Given the description of an element on the screen output the (x, y) to click on. 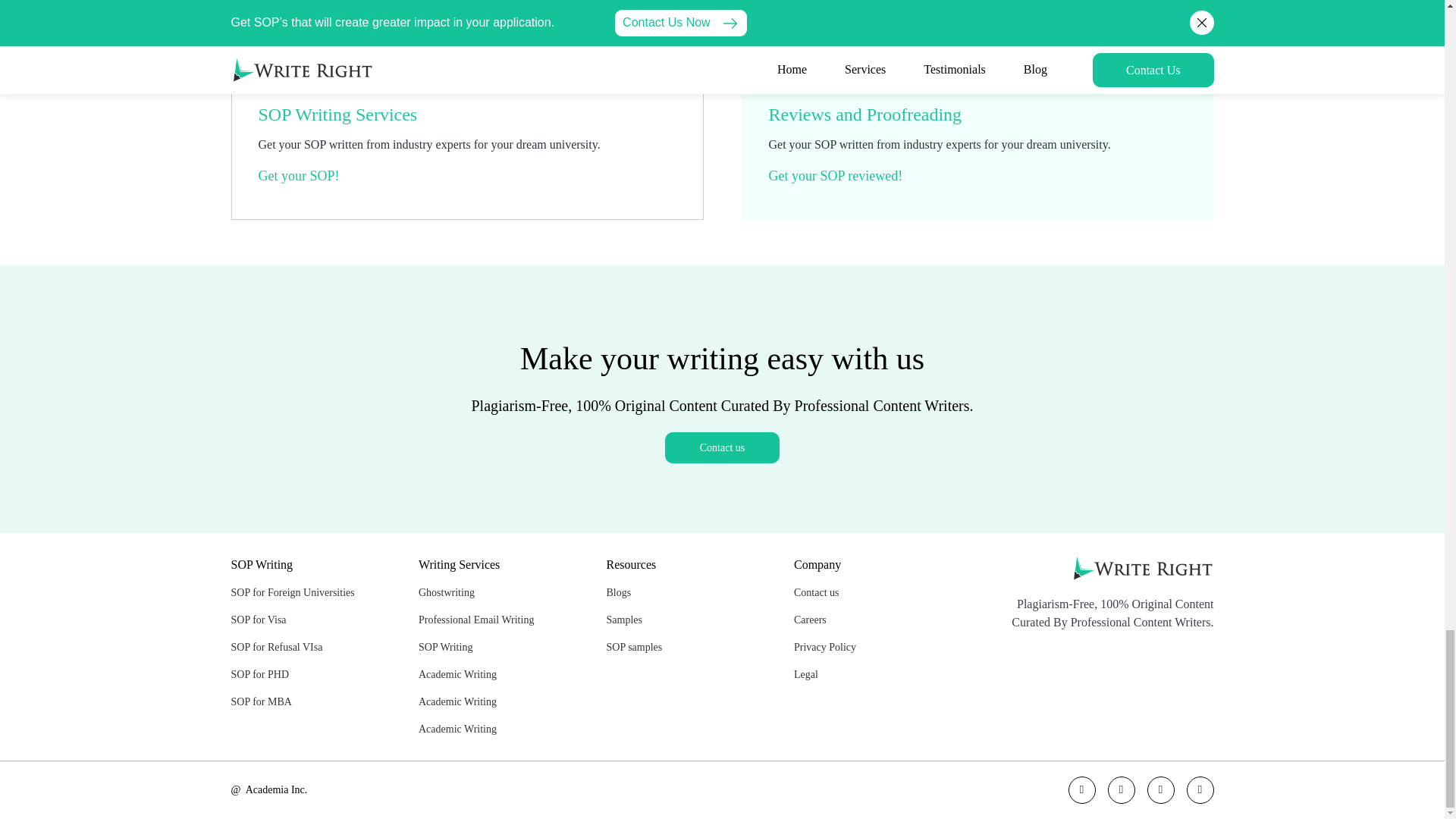
Samples (624, 620)
Academic Writing (457, 674)
Ghostwriting (446, 592)
twitter (1080, 789)
linkedin (1199, 789)
Academic Writing (457, 702)
Academic Writing (457, 729)
Get your SOP! (298, 176)
SOP for MBA (260, 702)
Blogs (619, 592)
